Given the description of an element on the screen output the (x, y) to click on. 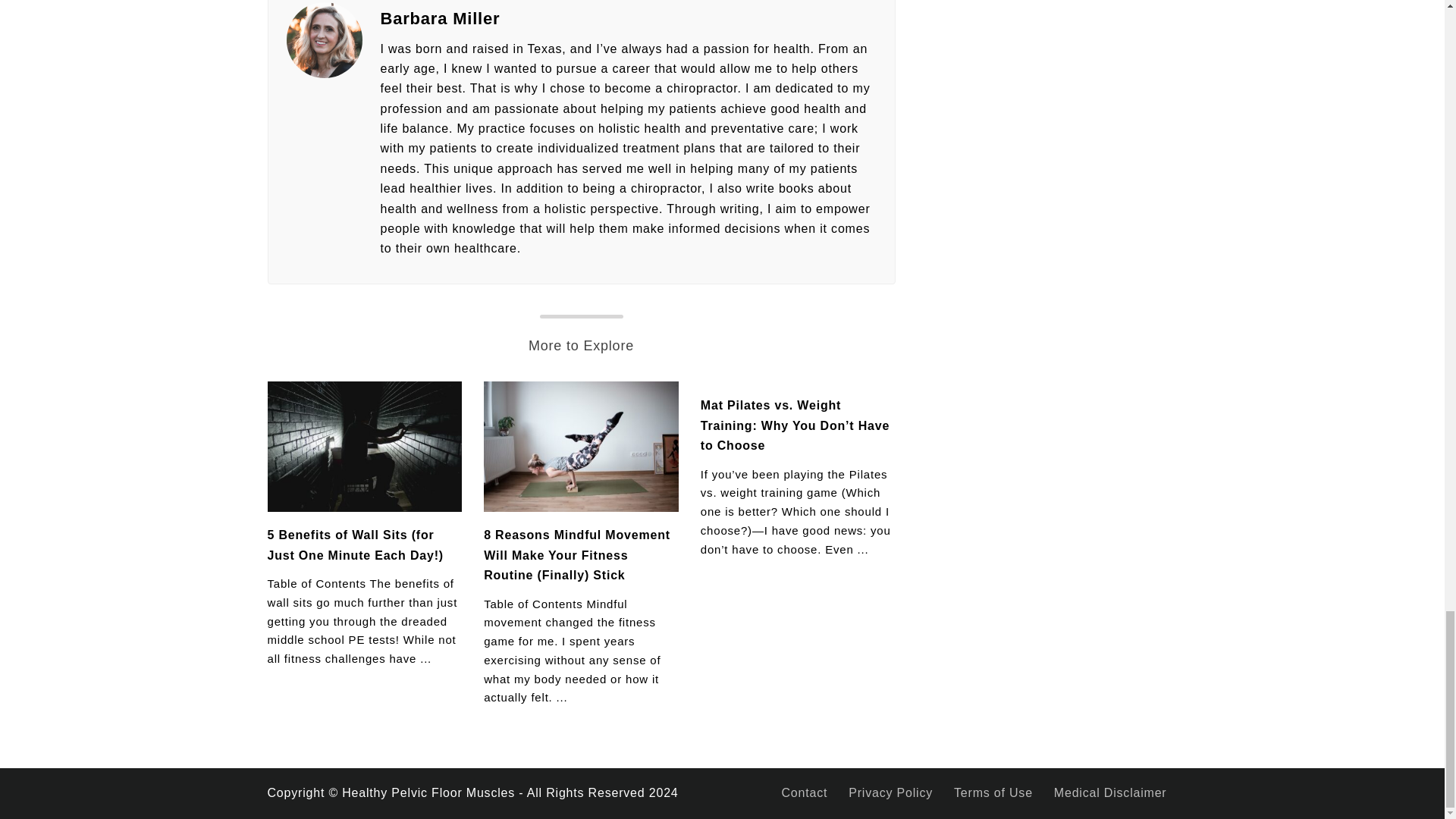
Barbara Miller (628, 18)
